Given the description of an element on the screen output the (x, y) to click on. 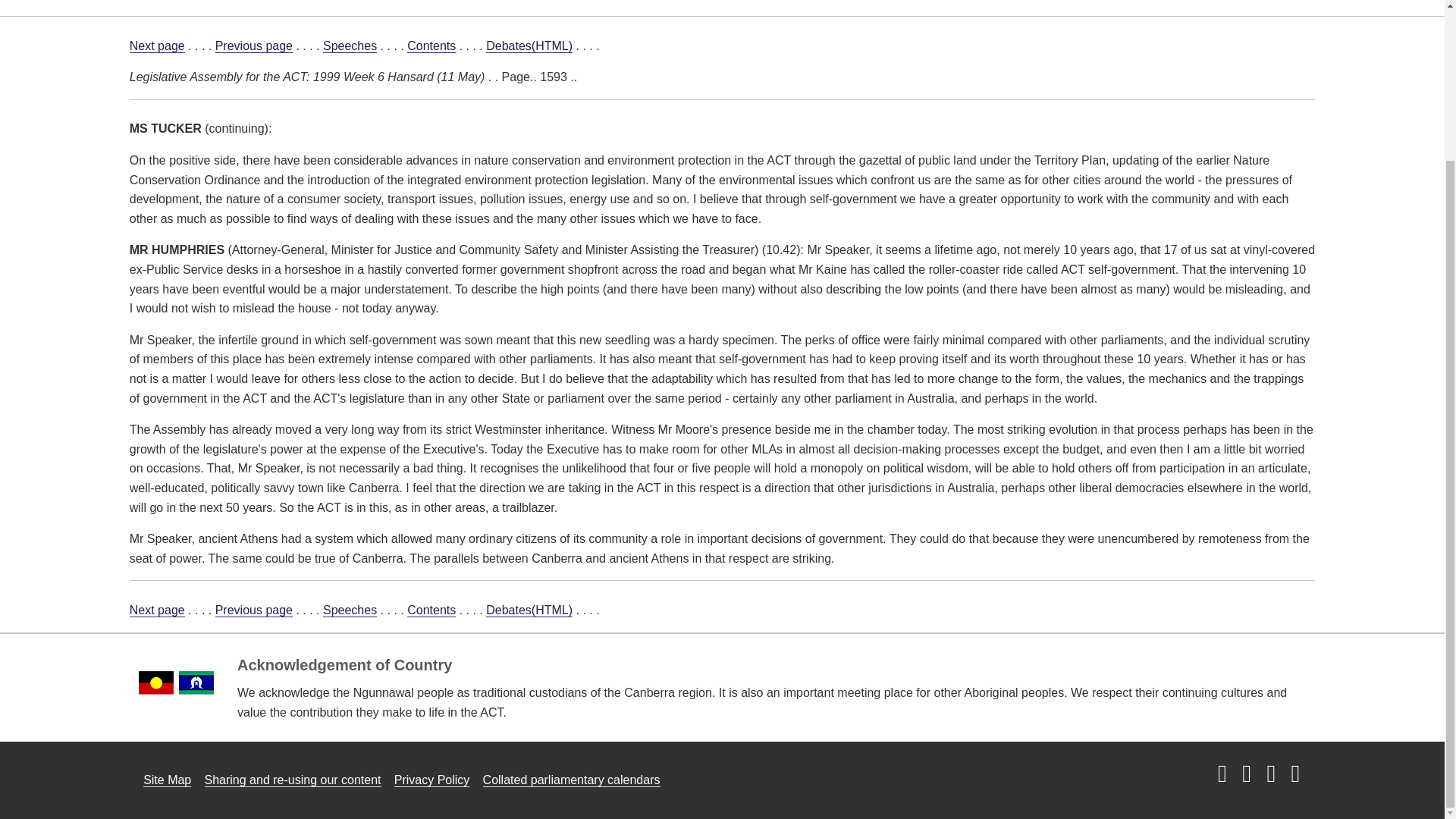
Speeches (350, 46)
Previous Assemblies (943, 1)
Contents (431, 610)
Subject indexes (544, 1)
Link to Site Map (166, 780)
Previous page (253, 610)
Questions (442, 1)
Digest of Proceedings (793, 1)
Privacy Policy (432, 780)
Link to Sharing and re-using our content (293, 780)
